Given the description of an element on the screen output the (x, y) to click on. 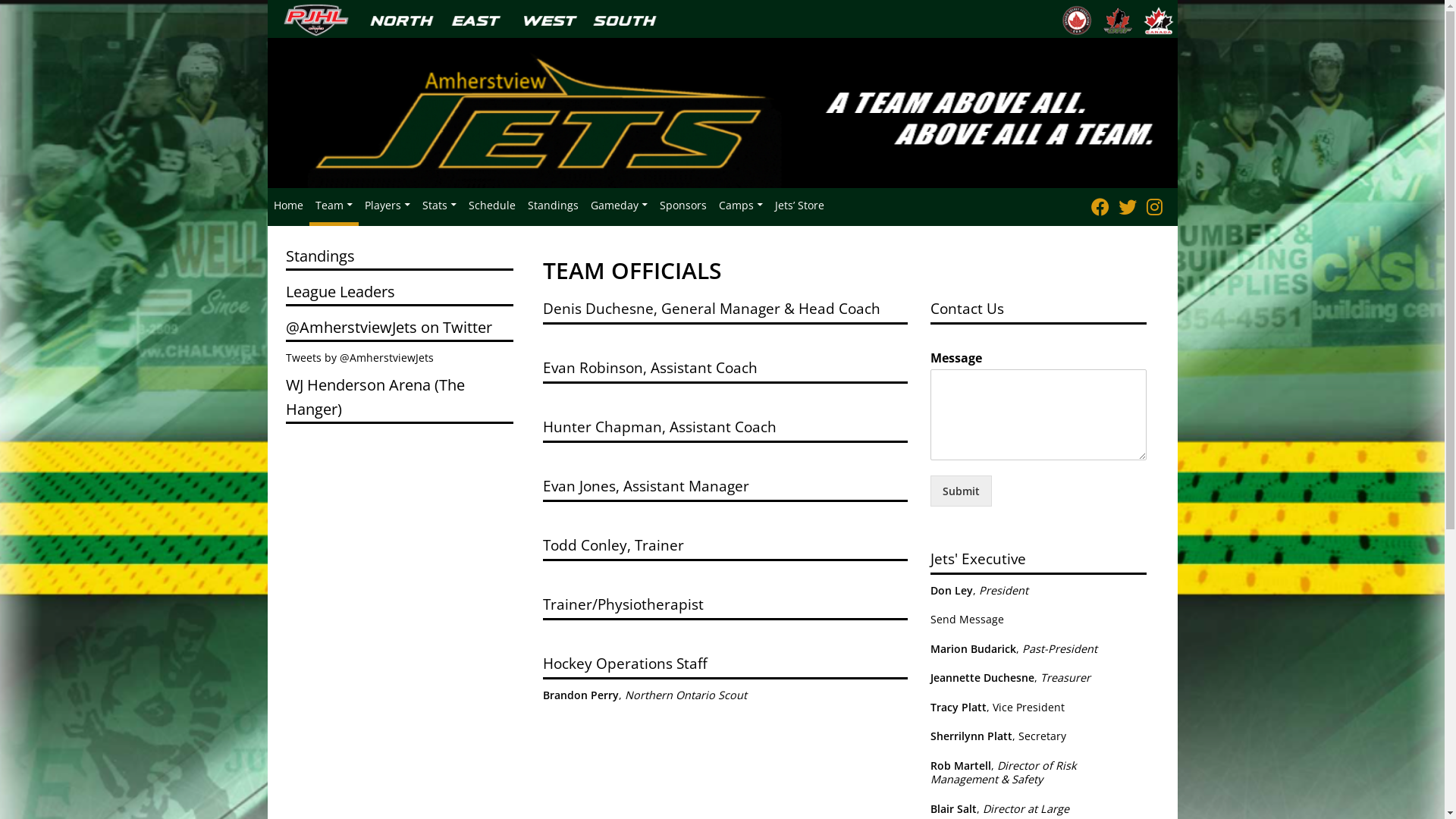
Tweets by @AmherstviewJets Element type: text (359, 357)
Send Message Element type: text (967, 618)
Schedule Element type: text (491, 205)
Facebook Element type: hover (1099, 206)
Camps Element type: text (740, 205)
Team Element type: text (333, 205)
Amherstview Jets Element type: hover (721, 111)
Gameday Element type: text (617, 205)
Sponsors Element type: text (682, 205)
Submit Element type: text (960, 490)
Players Element type: text (386, 205)
Instagram Element type: hover (1154, 206)
Stats Element type: text (438, 205)
Standings Element type: text (552, 205)
Home Element type: text (287, 205)
Twitter Element type: hover (1126, 206)
